Given the description of an element on the screen output the (x, y) to click on. 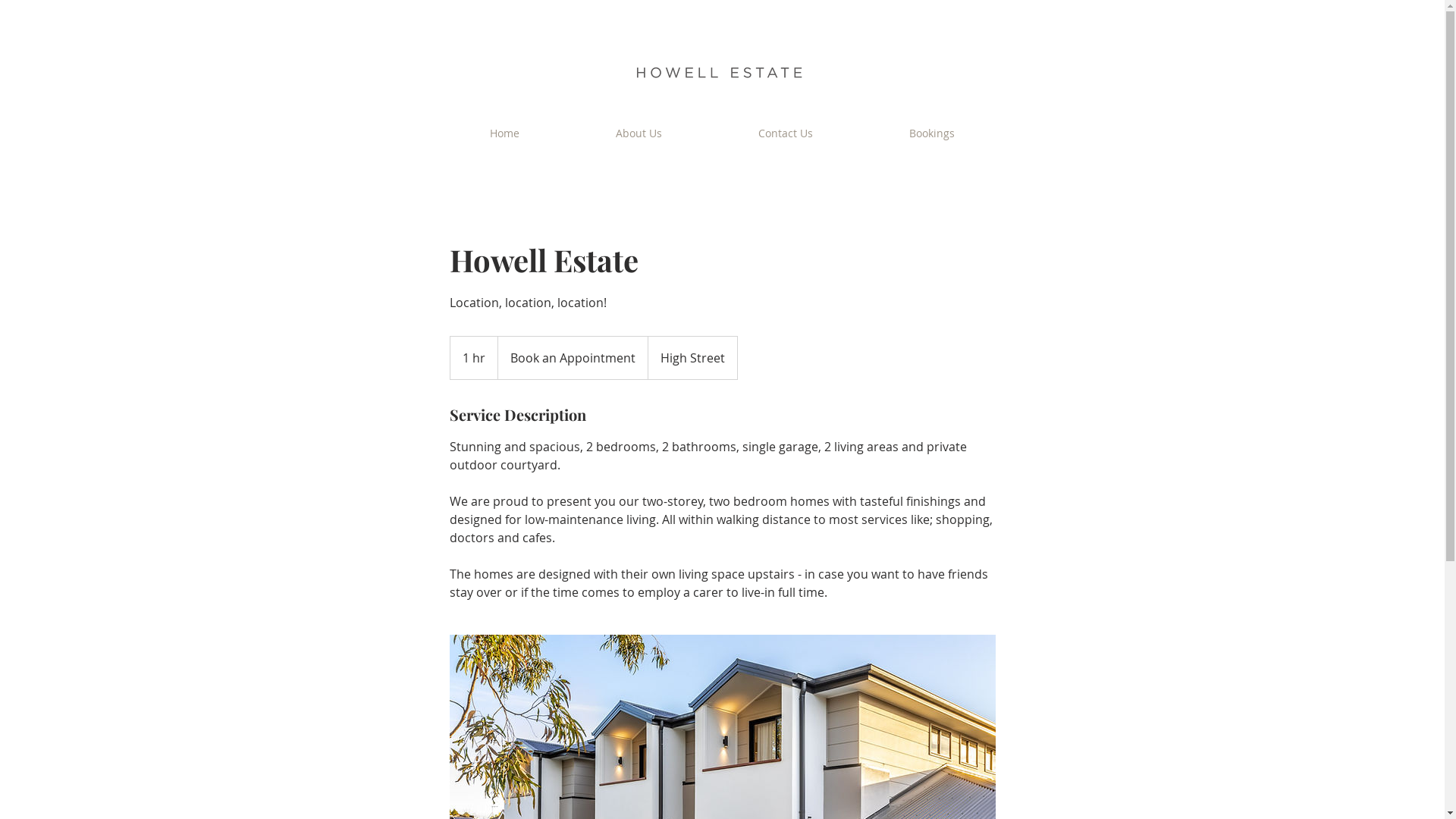
Home Element type: text (504, 133)
Contact Us Element type: text (784, 133)
About Us Element type: text (638, 133)
Bookings Element type: text (932, 133)
